Given the description of an element on the screen output the (x, y) to click on. 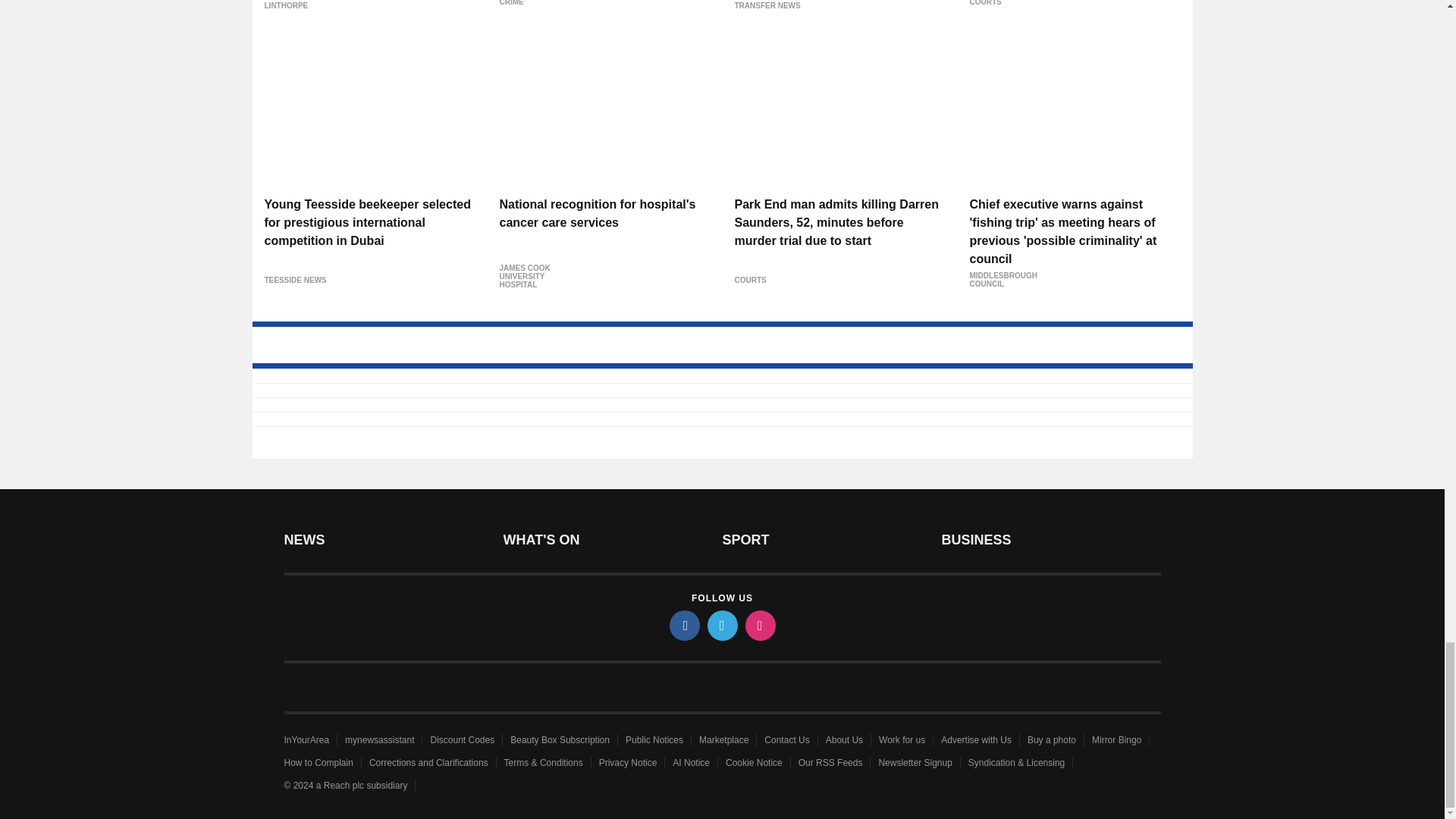
twitter (721, 625)
facebook (683, 625)
instagram (759, 625)
